Given the description of an element on the screen output the (x, y) to click on. 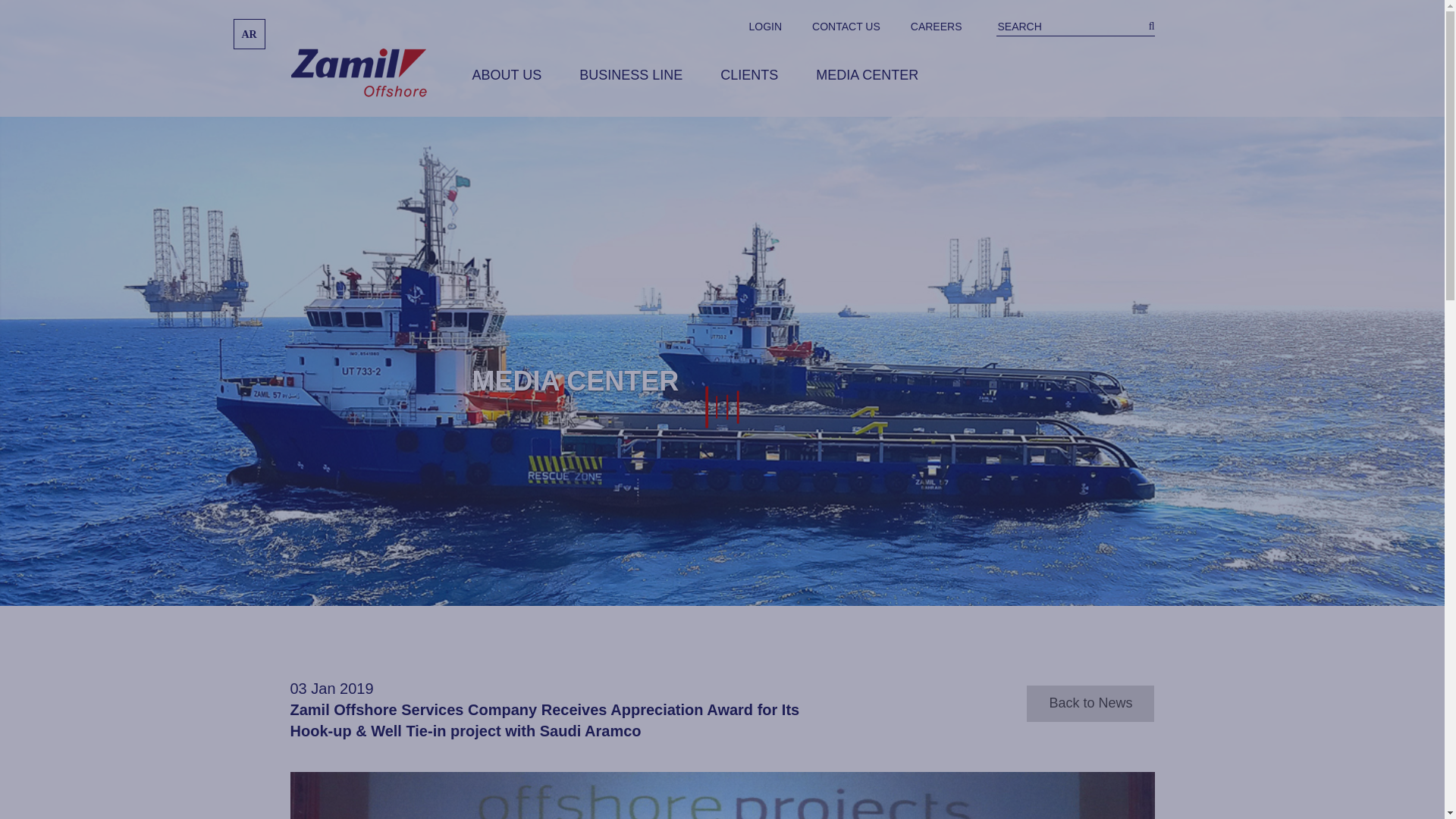
AR (248, 33)
LOGIN (766, 26)
MEDIA CENTER (866, 77)
CONTACT US (846, 26)
Back to News (1090, 703)
CLIENTS (748, 77)
BUSINESS LINE (630, 77)
ABOUT US (506, 77)
CAREERS (936, 26)
